Given the description of an element on the screen output the (x, y) to click on. 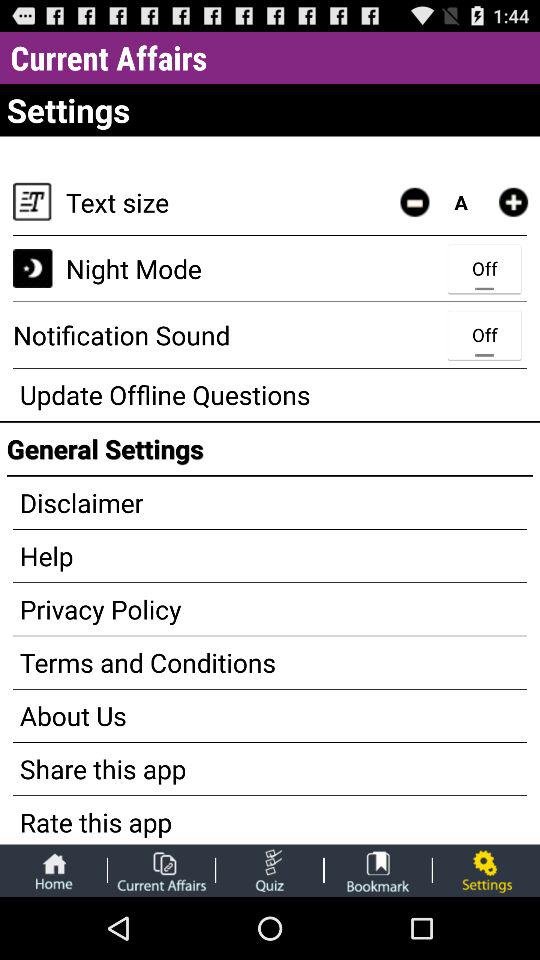
open terms and conditions (270, 662)
